Given the description of an element on the screen output the (x, y) to click on. 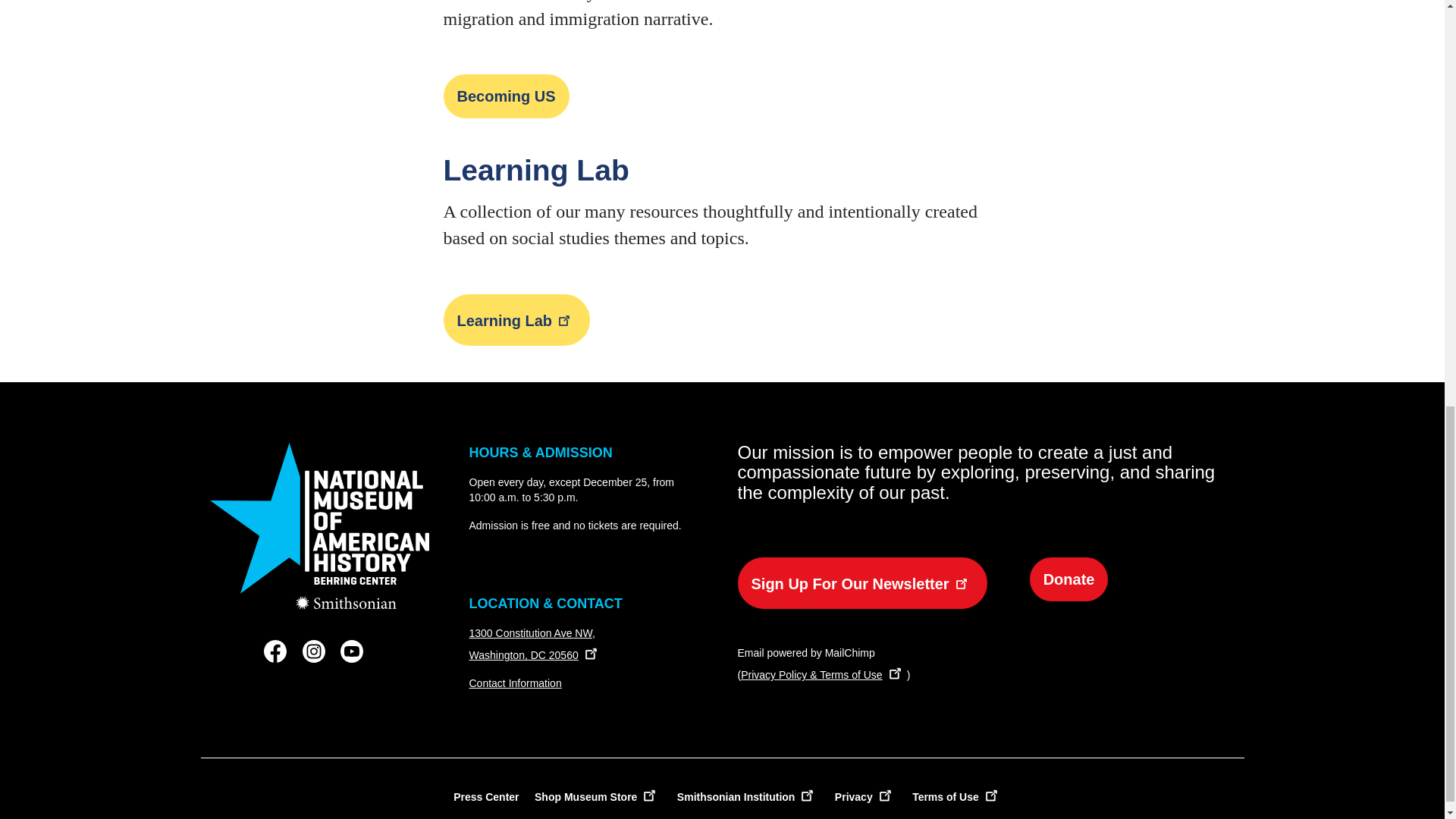
Contact Information (514, 683)
National Museum of American History (319, 526)
Becoming US (505, 95)
